Given the description of an element on the screen output the (x, y) to click on. 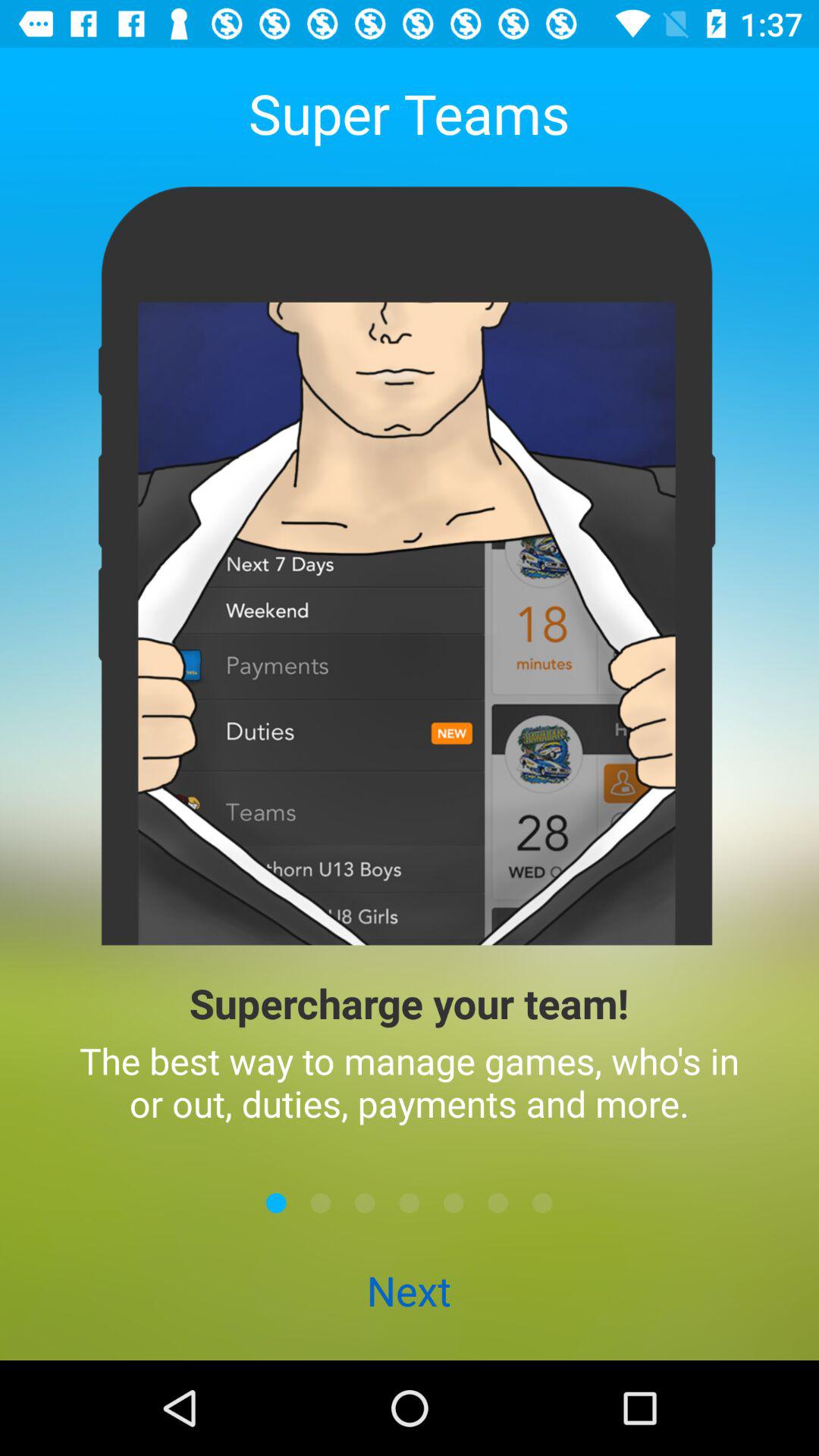
advance to a later slide (453, 1203)
